Given the description of an element on the screen output the (x, y) to click on. 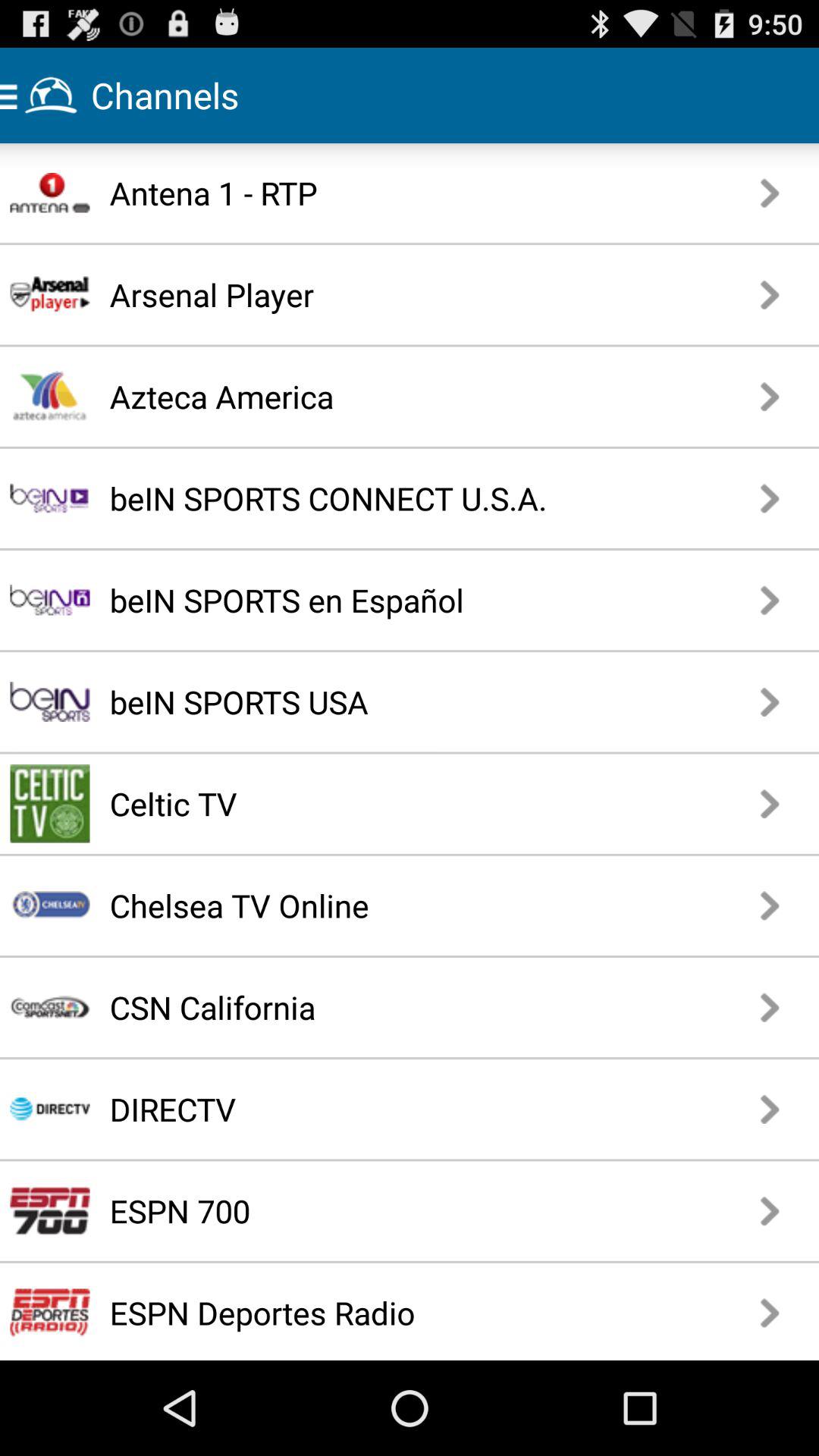
open the app above the arsenal player (367, 192)
